Given the description of an element on the screen output the (x, y) to click on. 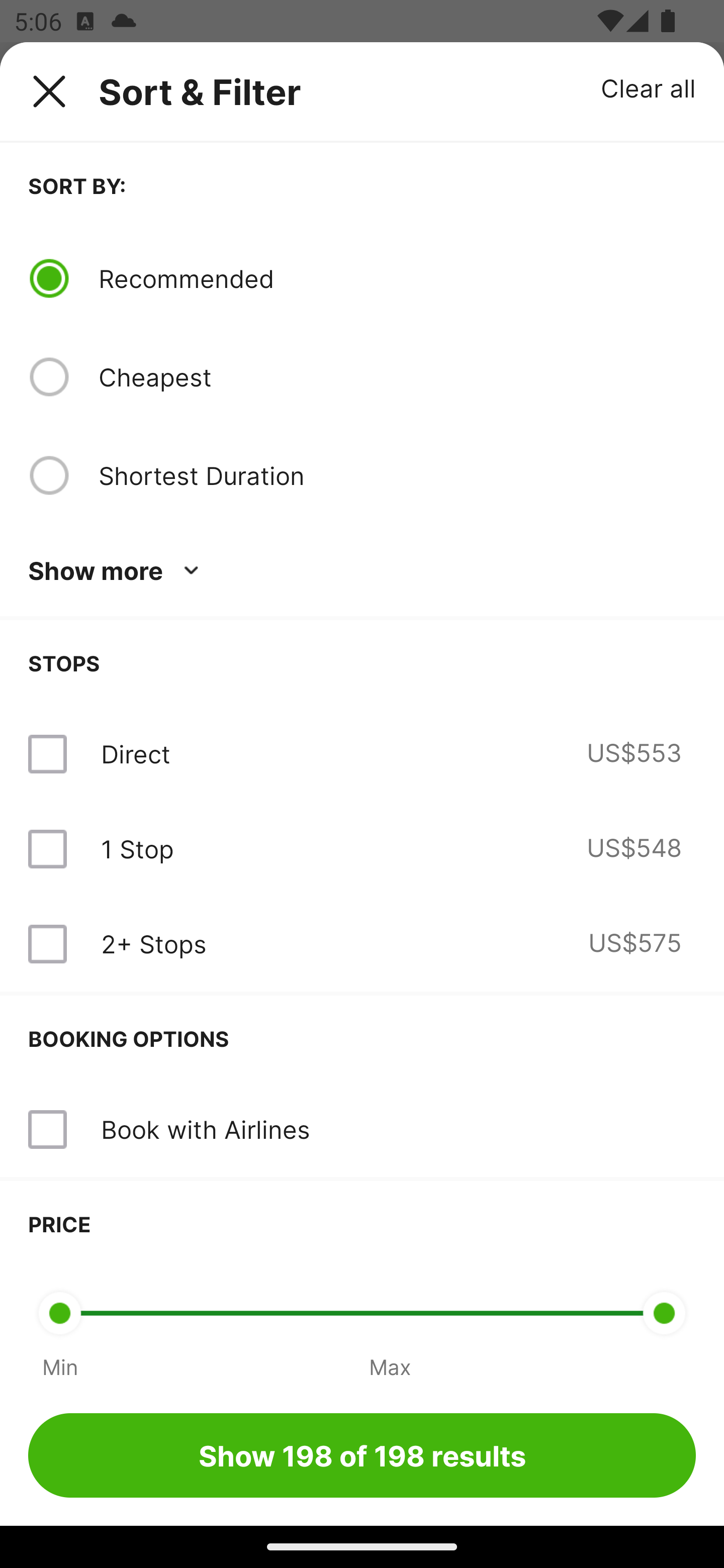
Clear all (648, 87)
Recommended  (396, 278)
Cheapest (396, 377)
Shortest Duration (396, 474)
Show more (116, 570)
Direct US$553 (362, 754)
Direct (135, 753)
1 Stop US$548 (362, 848)
1 Stop (136, 849)
2+ Stops US$575 (362, 943)
2+ Stops (153, 943)
Book with Airlines (362, 1129)
Book with Airlines (204, 1128)
Show 198 of 198 results (361, 1454)
